Given the description of an element on the screen output the (x, y) to click on. 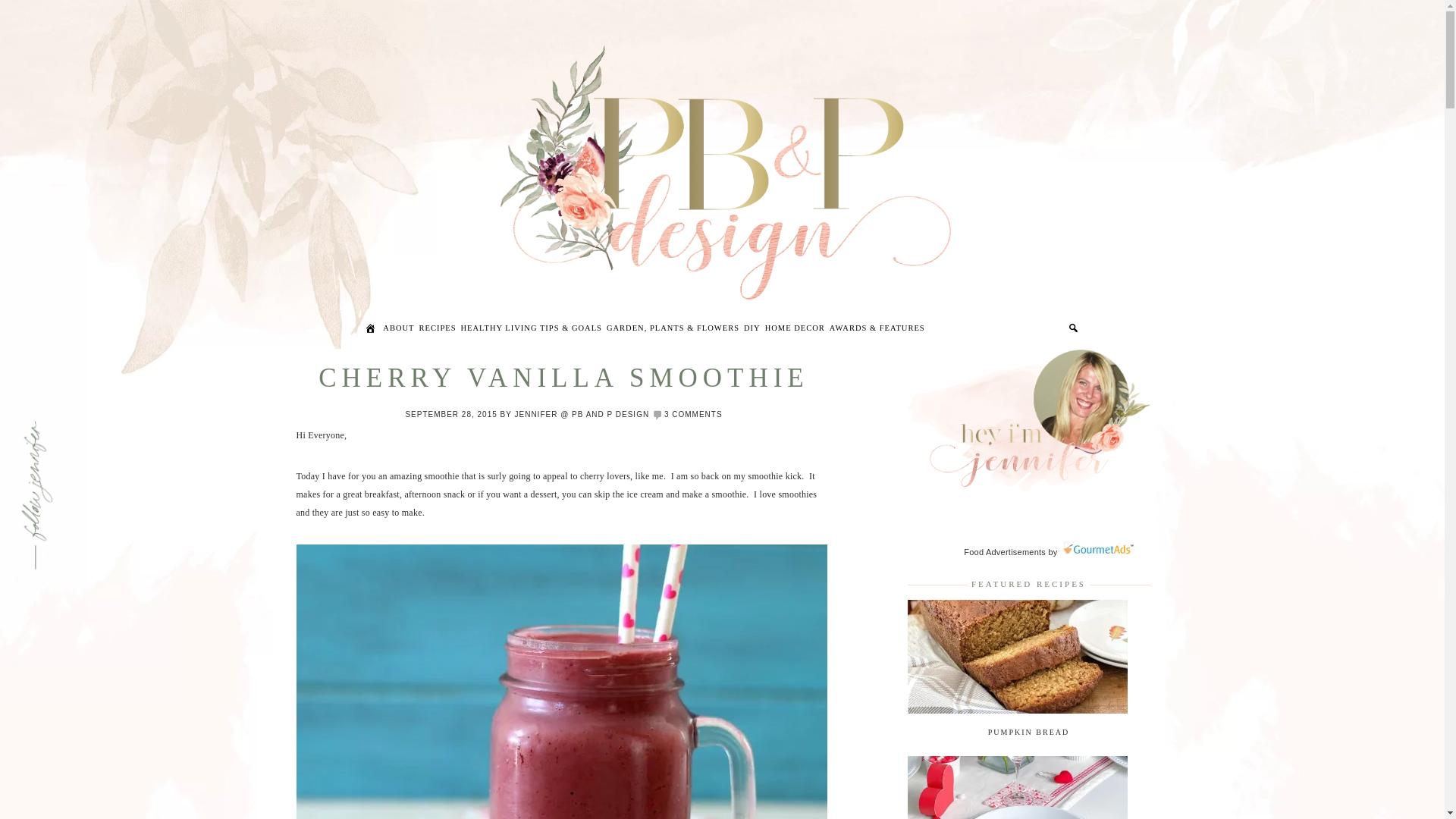
Food Advertisements (1004, 551)
RECIPES (437, 330)
Pumpkin Bread (1016, 710)
